Given the description of an element on the screen output the (x, y) to click on. 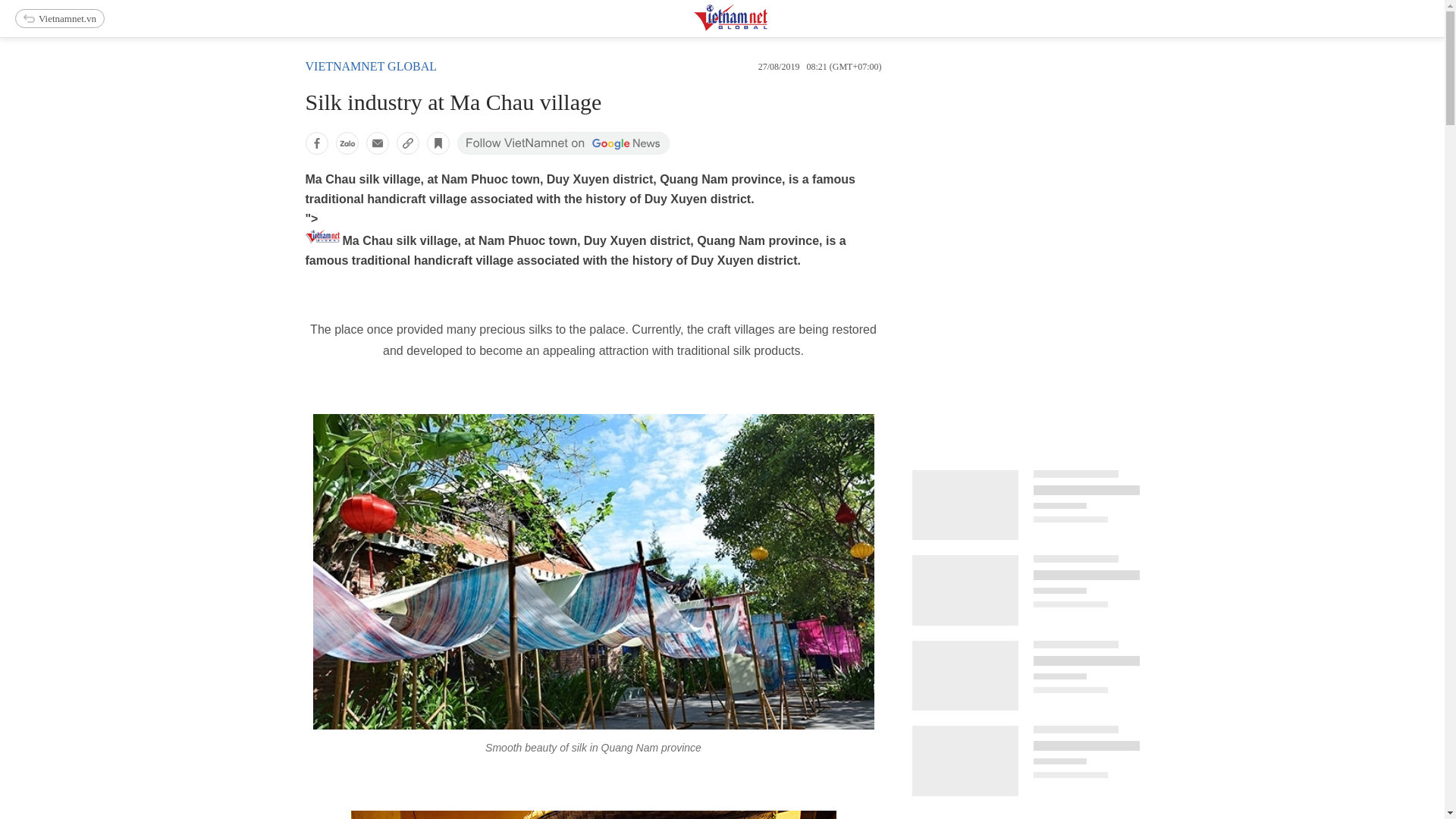
Copy link (407, 142)
Share the post on facebook (315, 142)
Share the post on zalo (346, 142)
Vietnamnet global (369, 65)
Share the post on email (376, 142)
Save post (437, 142)
Vietnamnet.vn (59, 18)
Vietnamnet Global (768, 26)
VIETNAMNET GLOBAL (369, 65)
